Given the description of an element on the screen output the (x, y) to click on. 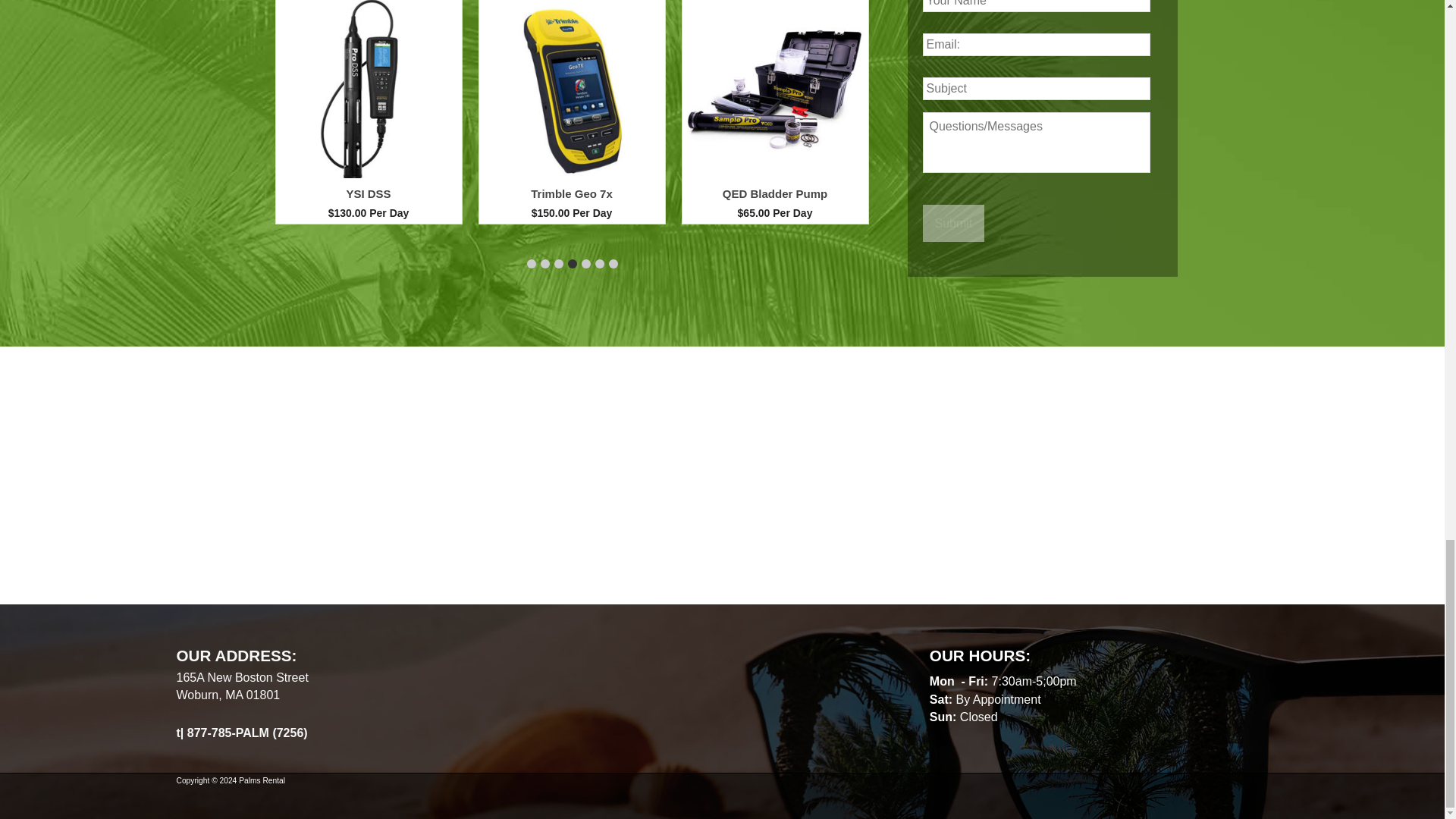
Submit (952, 222)
